Given the description of an element on the screen output the (x, y) to click on. 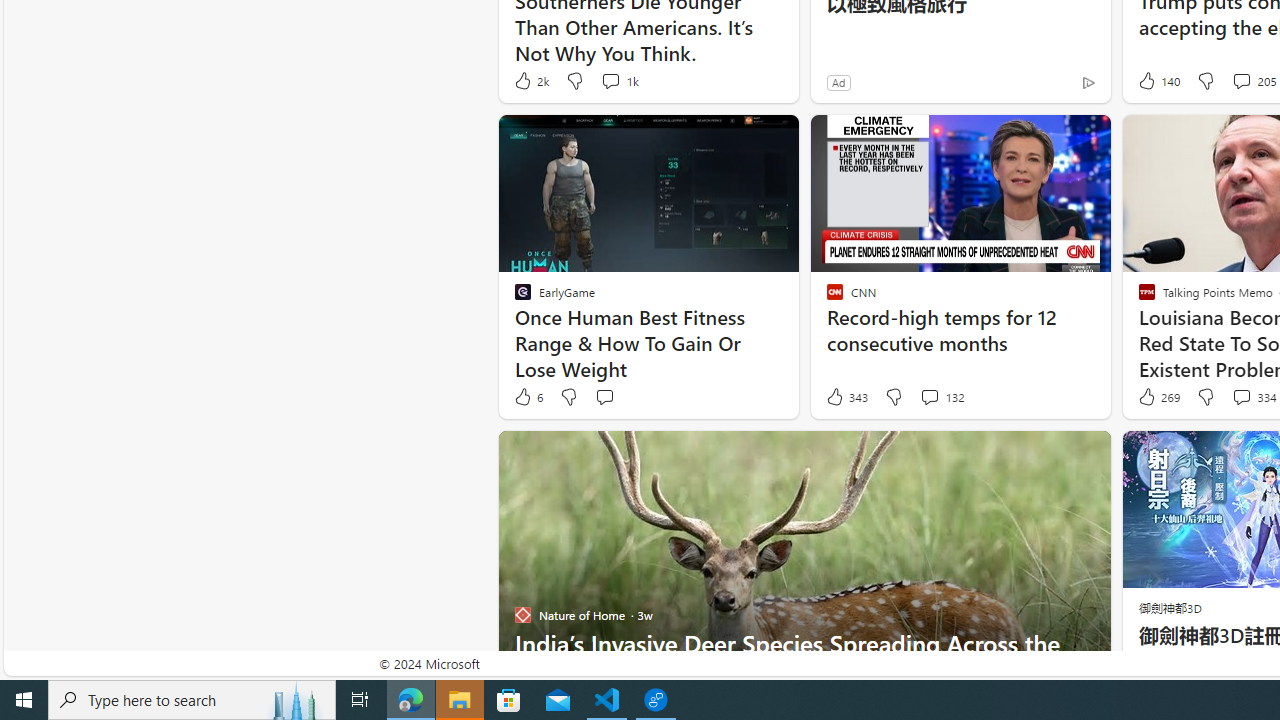
View comments 1k Comment (618, 80)
Ad Choice (1087, 82)
Ad (838, 82)
140 Like (1157, 80)
343 Like (845, 397)
6 Like (527, 397)
View comments 334 Comment (1241, 396)
Hide this story (1050, 454)
See more (1086, 454)
Dislike (1204, 397)
2k Like (530, 80)
Start the conversation (604, 397)
Start the conversation (603, 396)
